Given the description of an element on the screen output the (x, y) to click on. 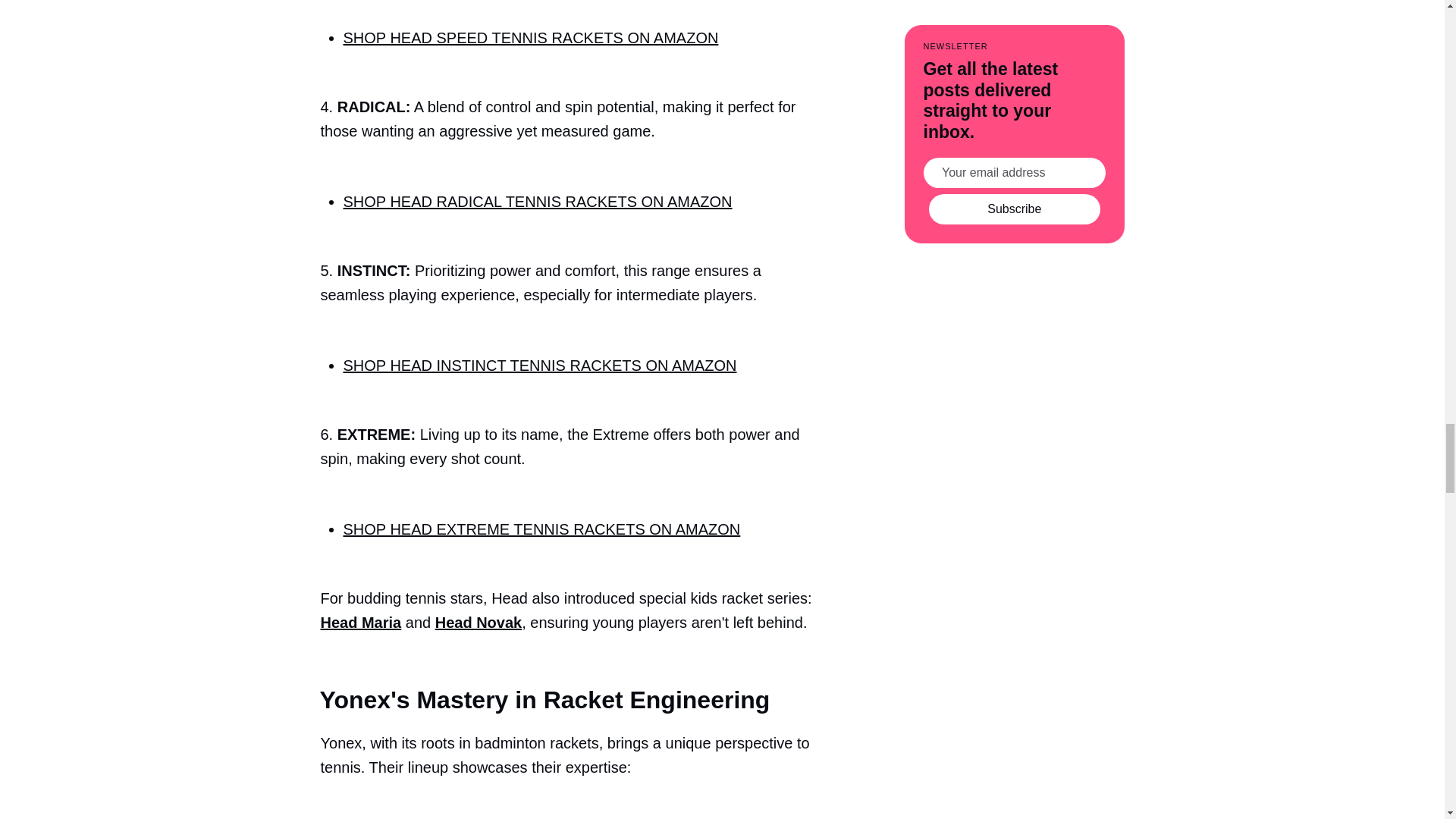
SHOP HEAD RADICAL TENNIS RACKETS ON AMAZON (537, 201)
SHOP HEAD SPEED TENNIS RACKETS ON AMAZON (529, 37)
SHOP HEAD INSTINCT TENNIS RACKETS ON AMAZON (539, 365)
Head Novak (478, 622)
Head Maria (360, 622)
SHOP HEAD EXTREME TENNIS RACKETS ON AMAZON (540, 528)
